Given the description of an element on the screen output the (x, y) to click on. 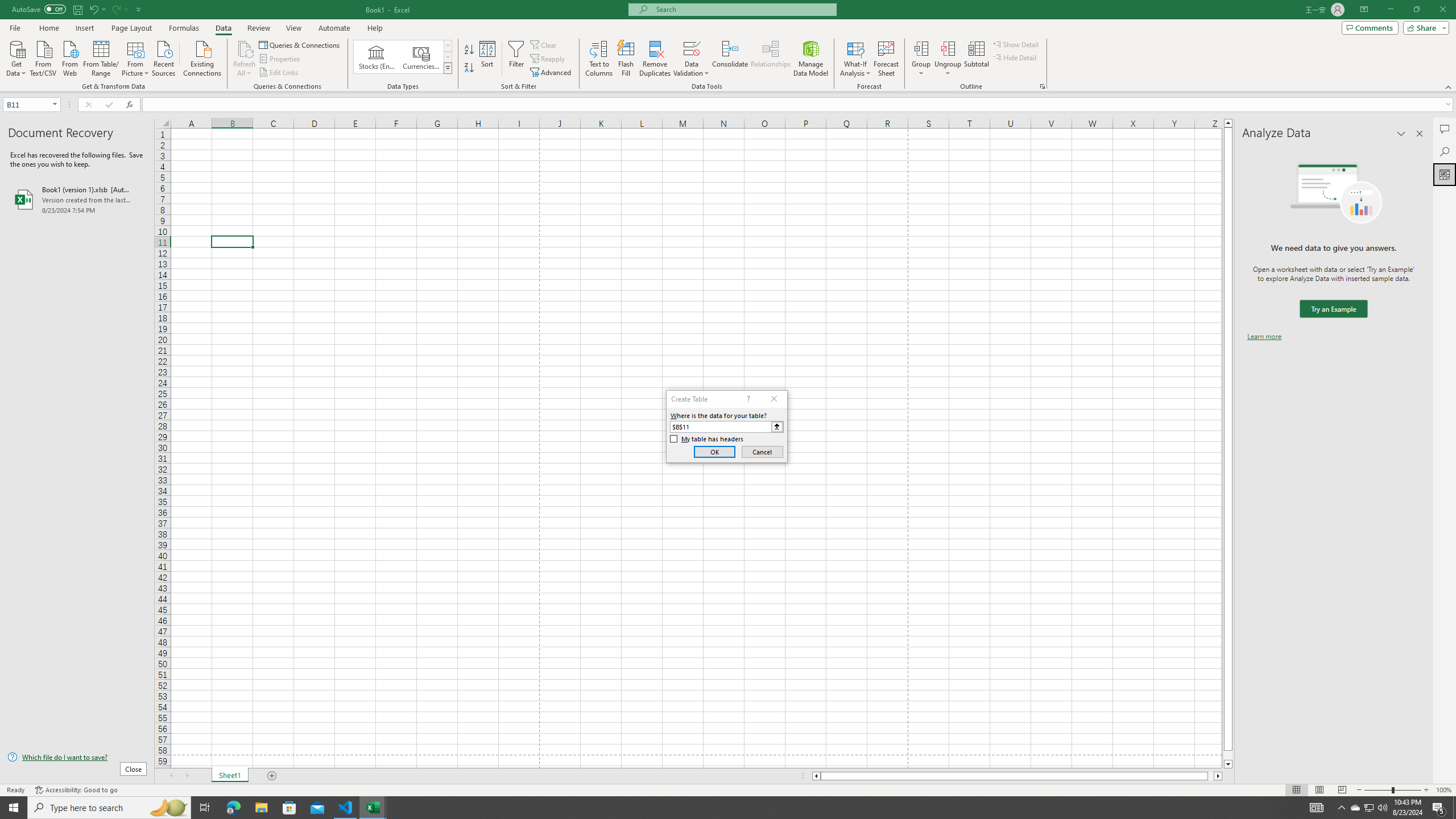
Sort... (487, 58)
From Picture (135, 57)
Properties (280, 58)
From Text/CSV (43, 57)
